Given the description of an element on the screen output the (x, y) to click on. 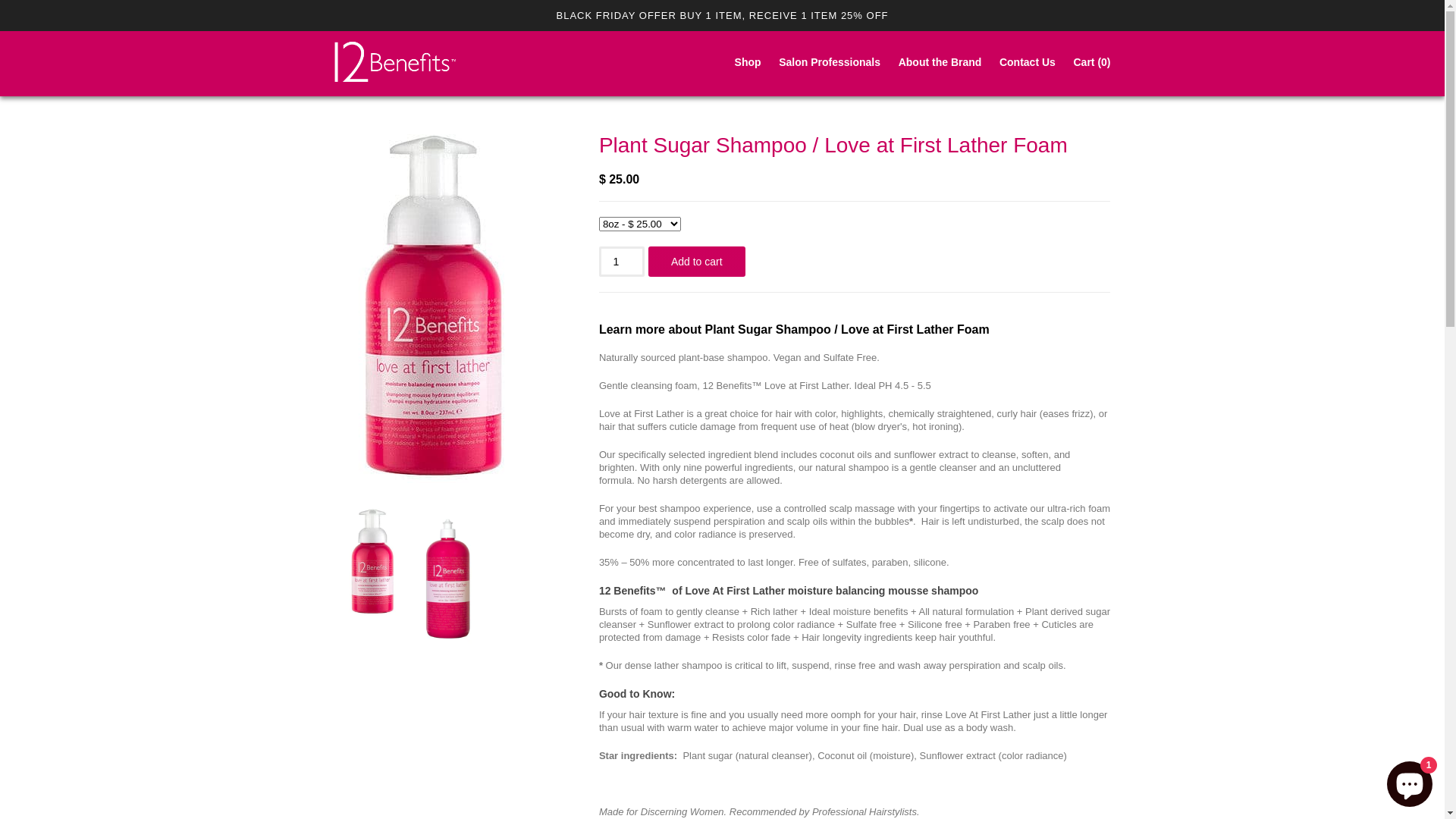
Add to cart Element type: text (696, 261)
Cart (0) Element type: text (1091, 63)
Salon Professionals Element type: text (829, 63)
Shop Element type: text (747, 63)
Contact Us Element type: text (1027, 63)
Shopify online store chat Element type: hover (1409, 780)
About the Brand Element type: text (940, 63)
12benefits Element type: hover (394, 63)
